Given the description of an element on the screen output the (x, y) to click on. 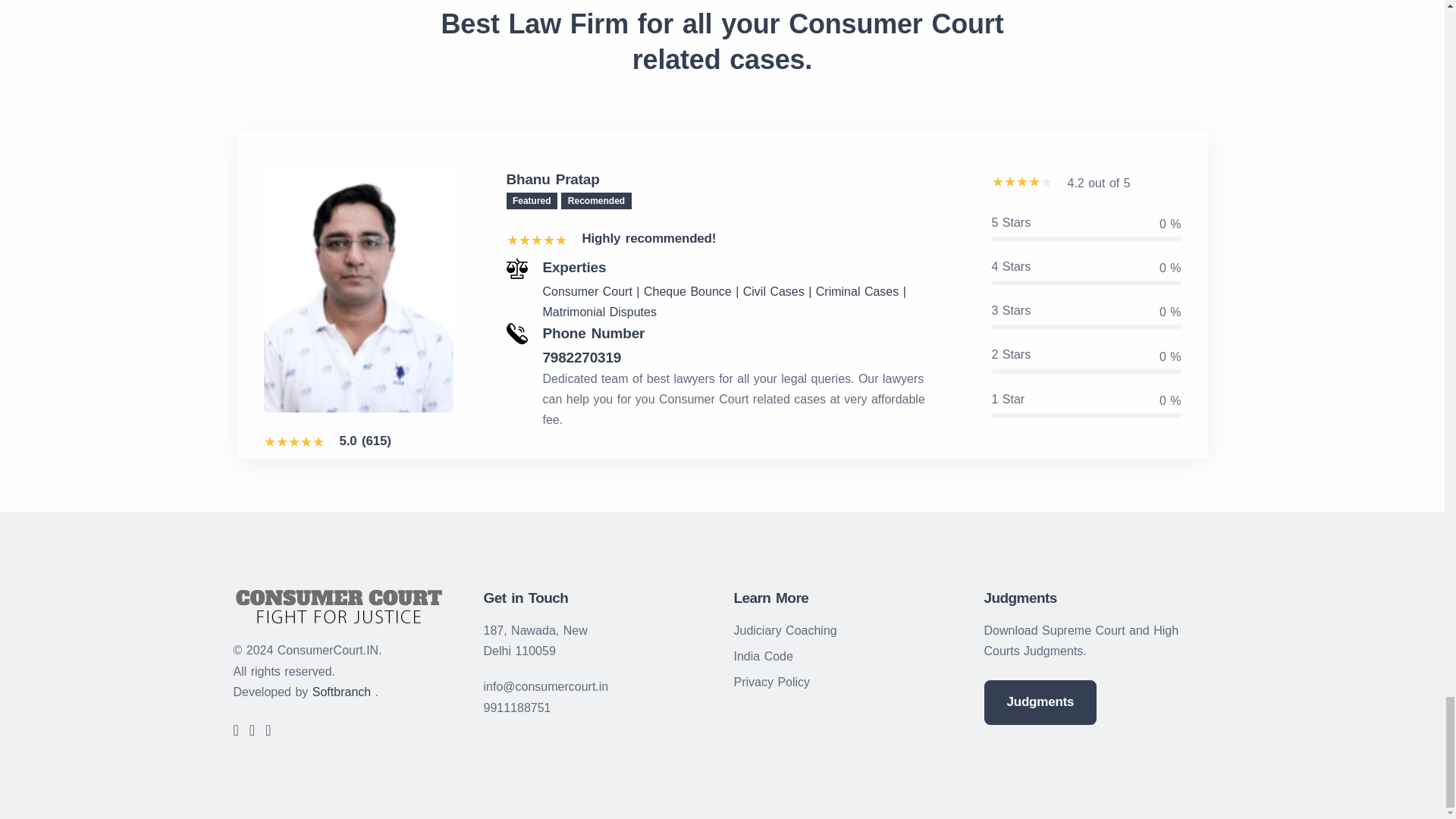
Softbranch (342, 691)
7982270319 (741, 357)
